Given the description of an element on the screen output the (x, y) to click on. 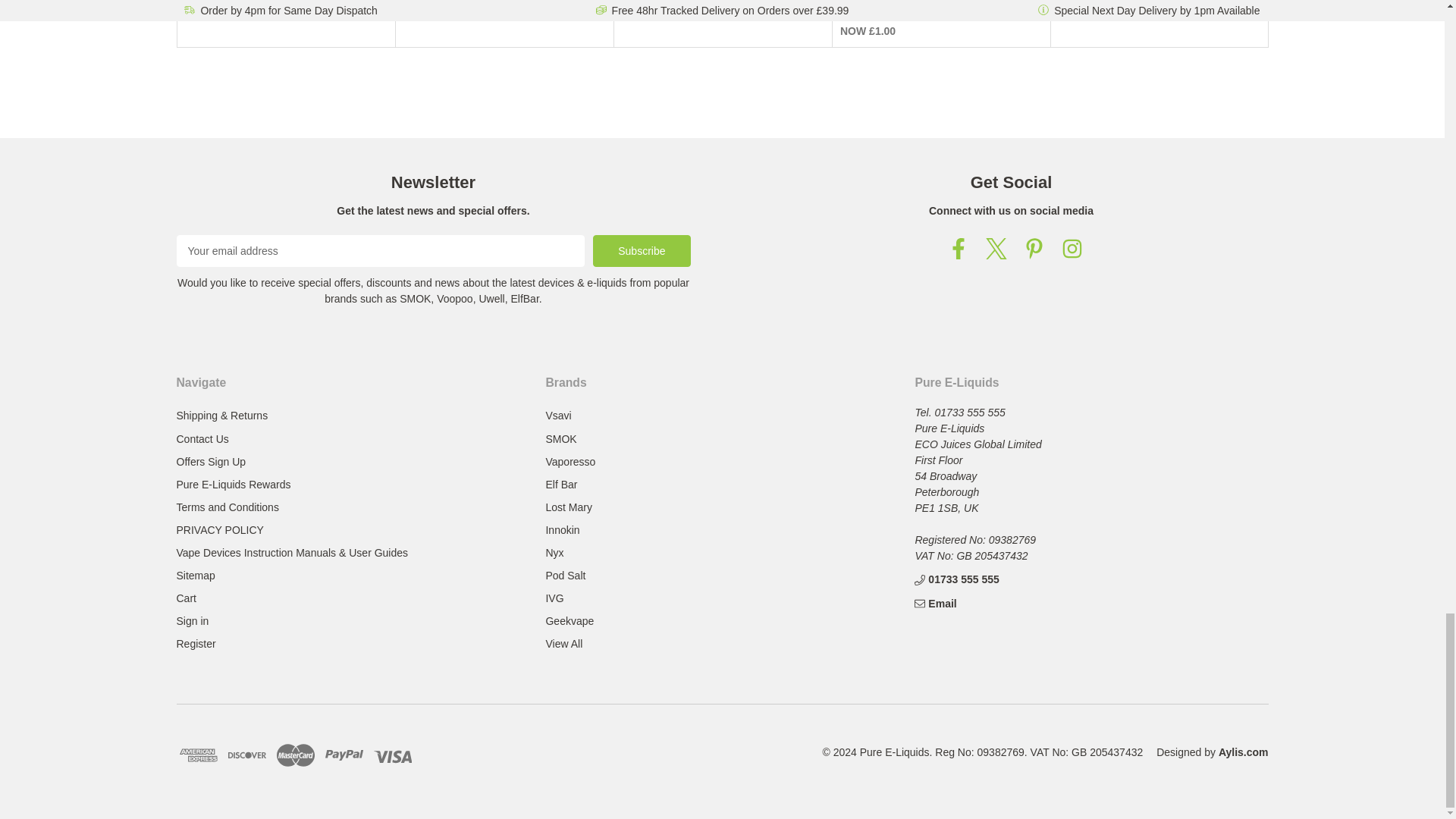
Subscribe (641, 250)
Facebook (958, 248)
X (996, 248)
